Given the description of an element on the screen output the (x, y) to click on. 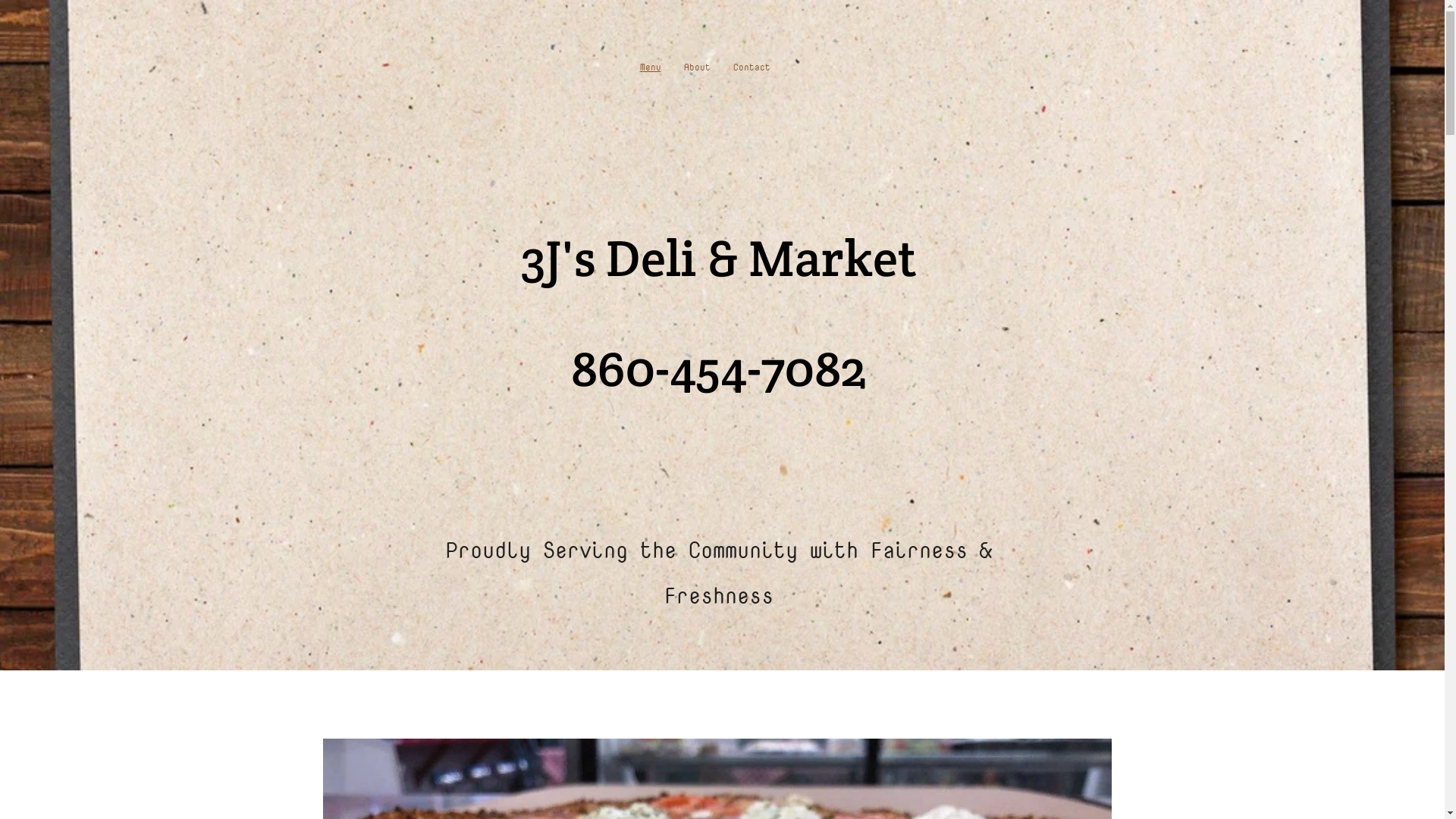
Menu Element type: text (649, 67)
About Element type: text (696, 67)
Contact Element type: text (751, 67)
